Given the description of an element on the screen output the (x, y) to click on. 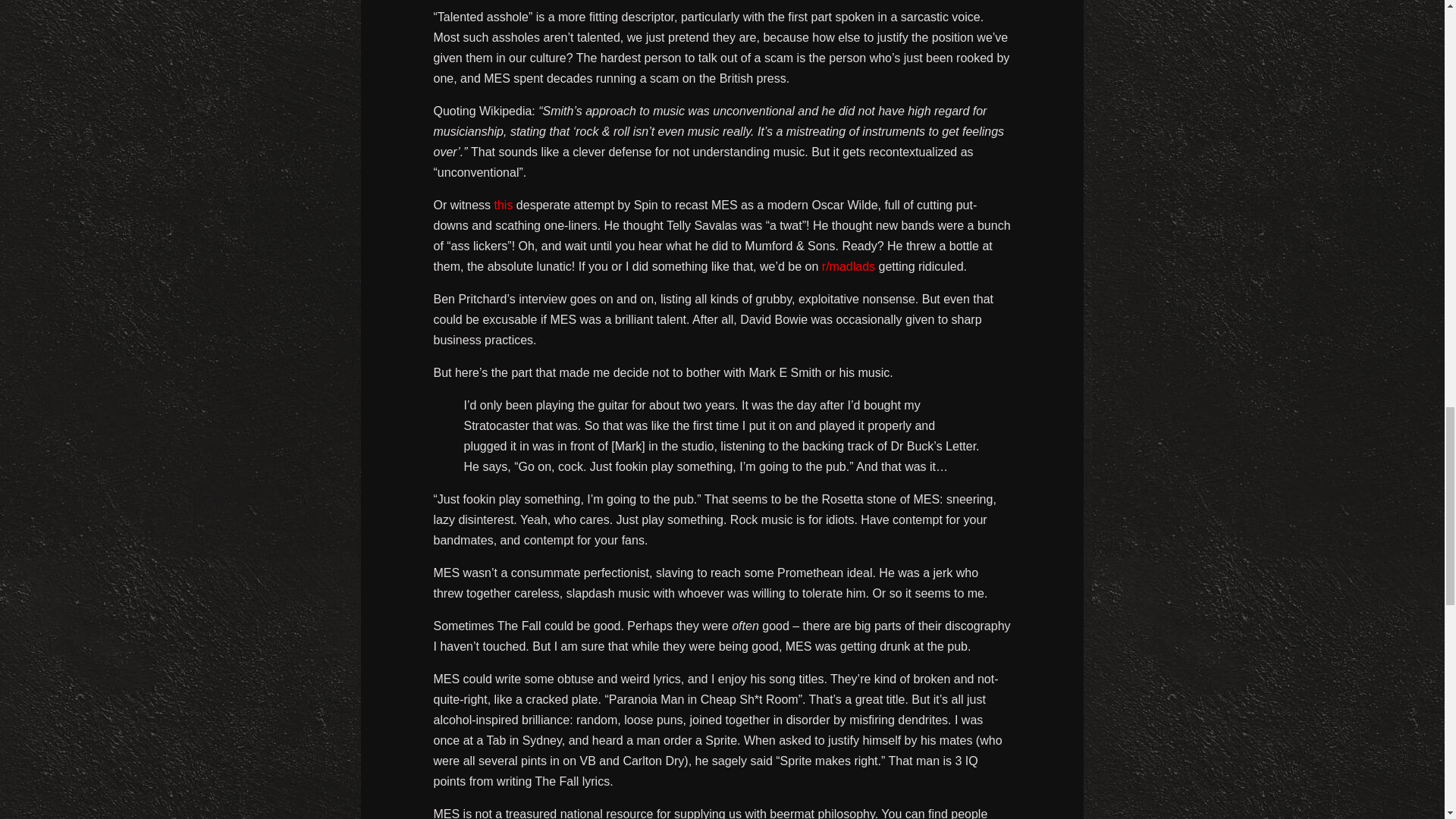
this (504, 205)
